Given the description of an element on the screen output the (x, y) to click on. 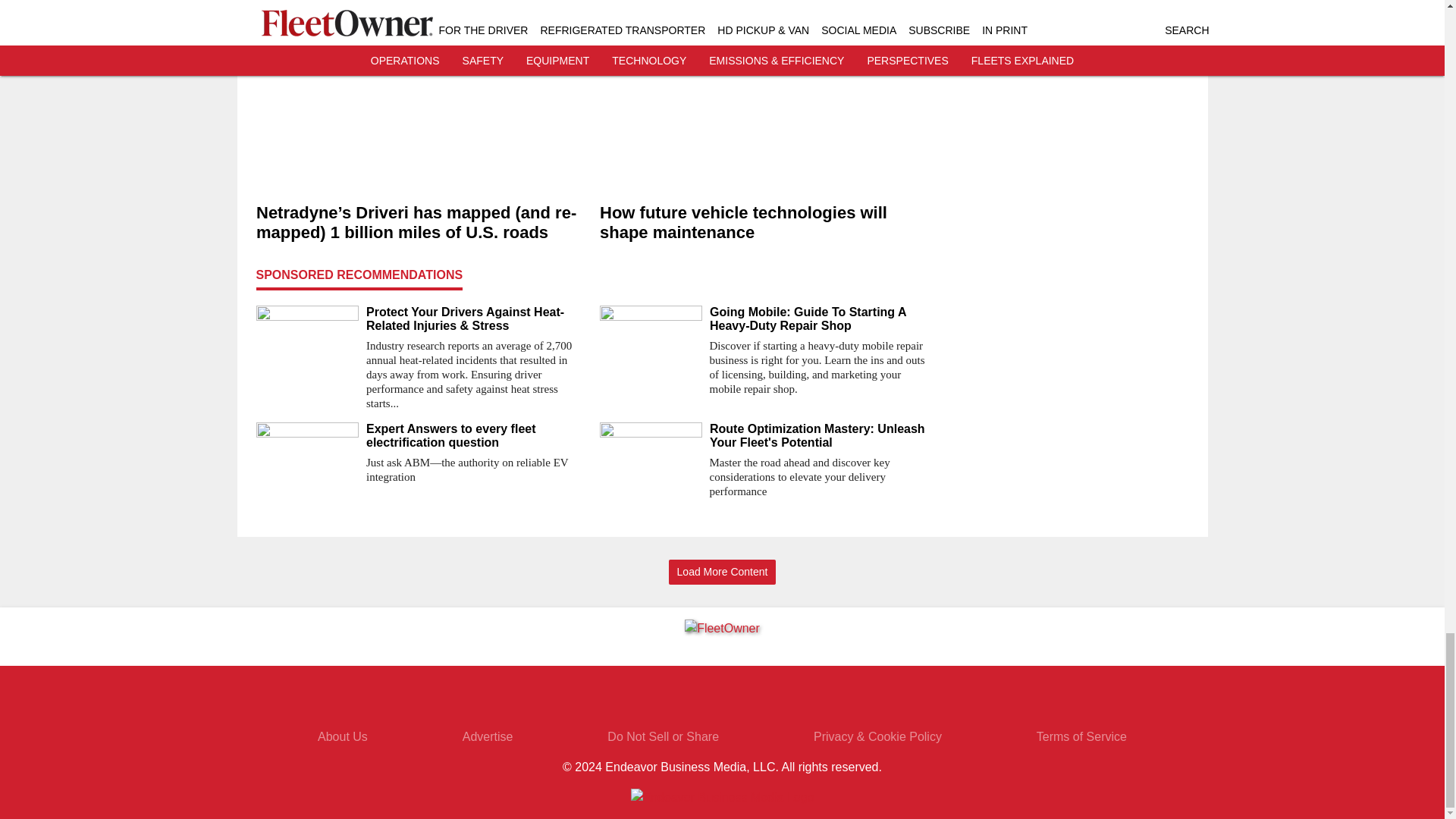
Going Mobile: Guide To Starting A Heavy-Duty Repair Shop (820, 318)
How future vehicle technologies will shape maintenance (764, 222)
